Given the description of an element on the screen output the (x, y) to click on. 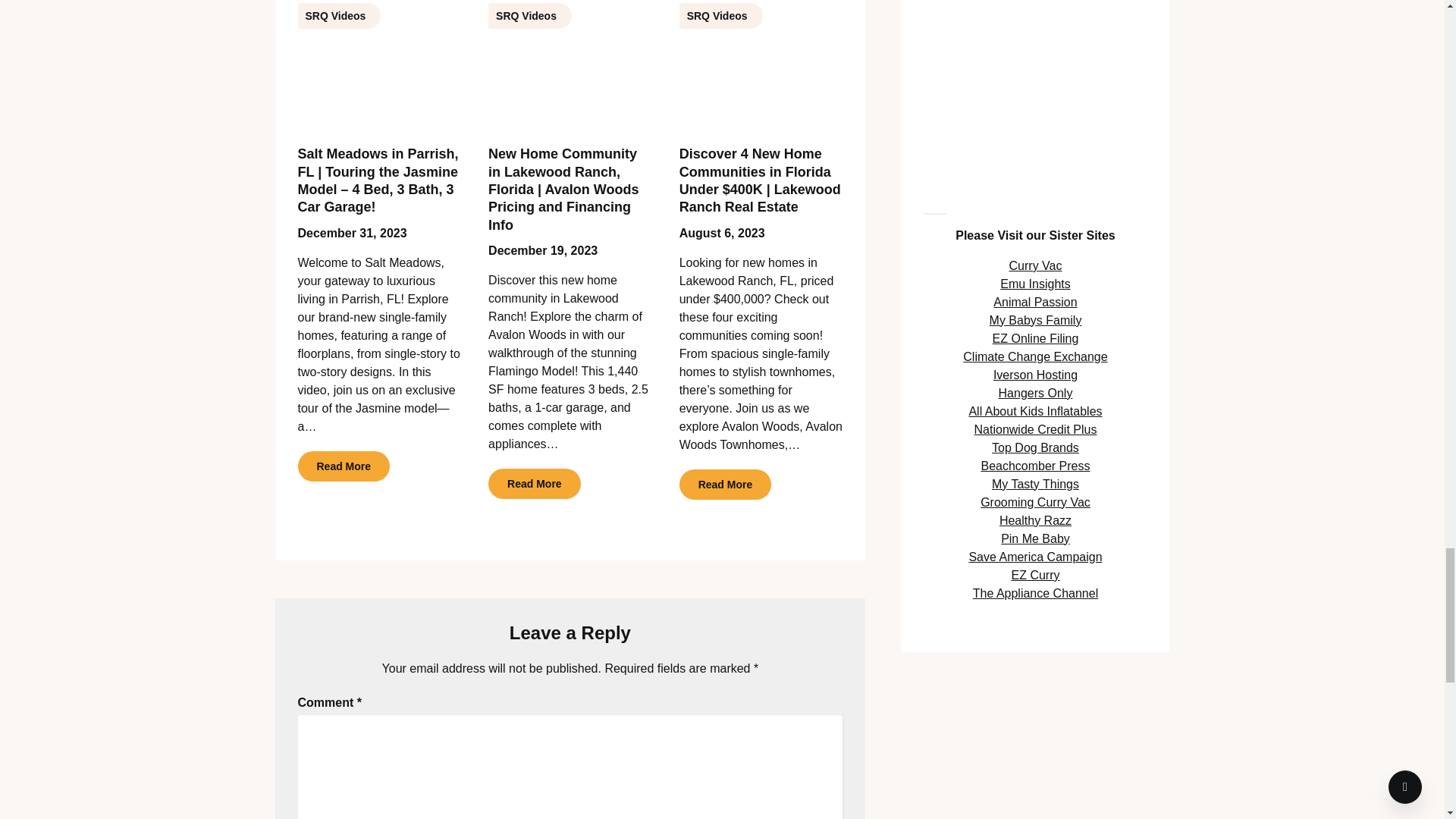
Read More (343, 466)
December 19, 2023 (541, 250)
SRQ Videos (569, 65)
SRQ Videos (379, 65)
December 31, 2023 (351, 232)
